Given the description of an element on the screen output the (x, y) to click on. 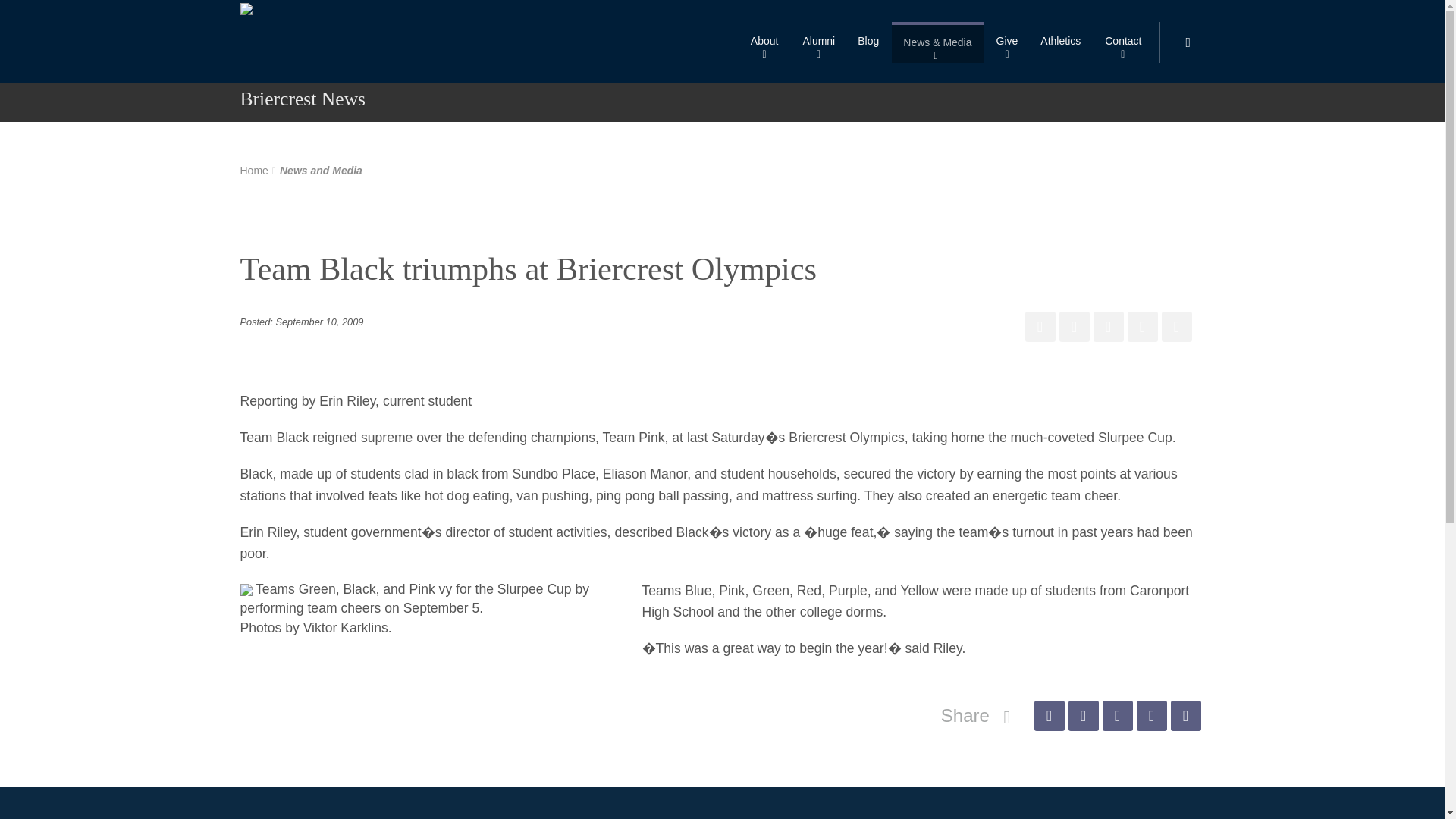
email a link to this (1185, 716)
Blog (867, 42)
share this to Pinterest (1108, 327)
share this to Pinterest (1117, 716)
share this to my Facebook page (1040, 327)
share this to my Twitter account (1073, 327)
Alumni (817, 42)
Alumni (817, 42)
About (764, 42)
Blog (867, 42)
